Given the description of an element on the screen output the (x, y) to click on. 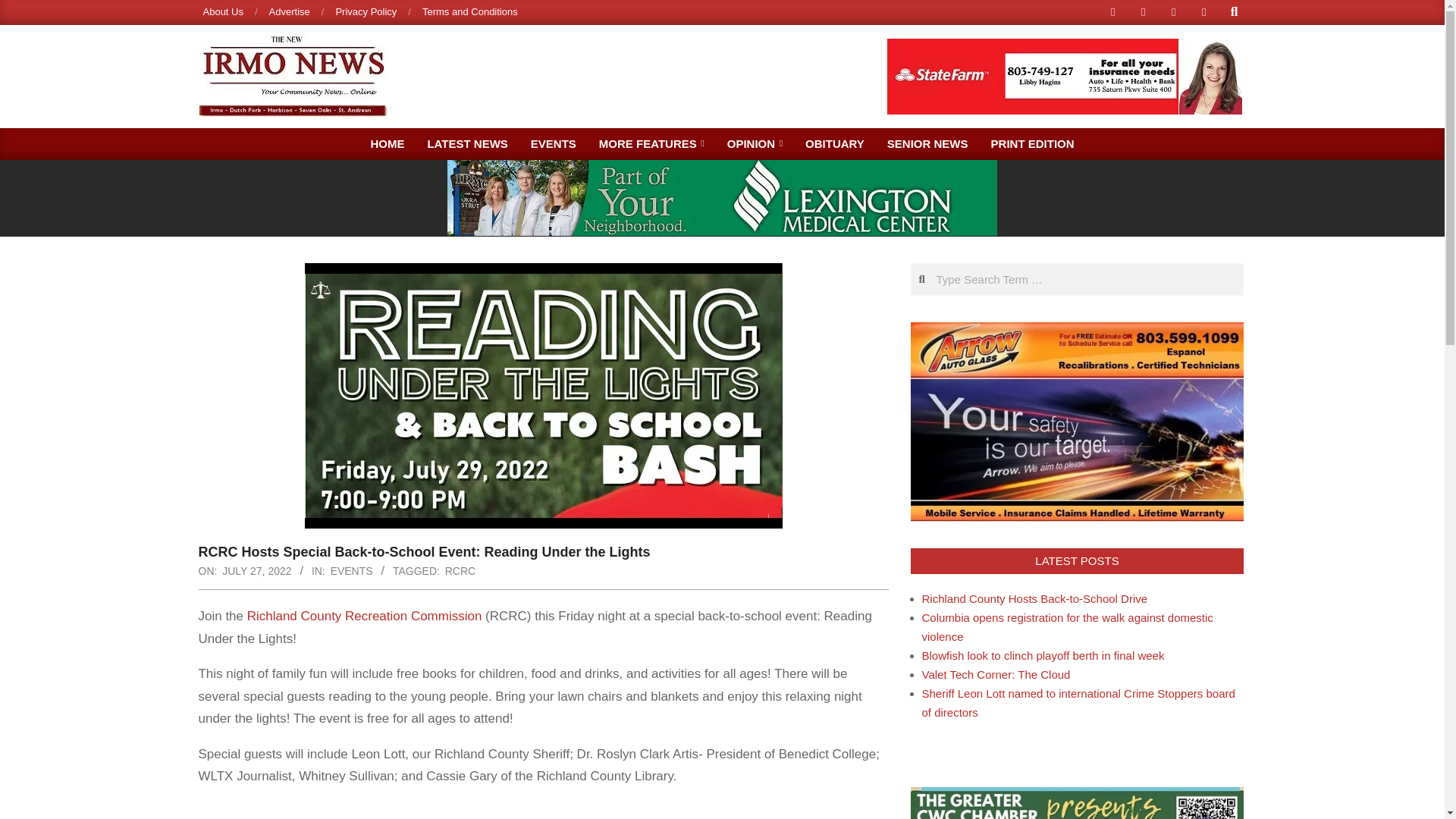
OPINION (754, 143)
SENIOR NEWS (927, 143)
Search (24, 9)
EVENTS (351, 570)
Richland County Recreation Commission (364, 616)
Wednesday, July 27, 2022, 8:10 pm (256, 570)
Advertise (289, 11)
HOME (386, 143)
MORE FEATURES (652, 143)
RCRC (460, 570)
PRINT EDITION (1032, 143)
Terms and Conditions (470, 11)
EVENTS (553, 143)
OBITUARY (834, 143)
LATEST NEWS (466, 143)
